Given the description of an element on the screen output the (x, y) to click on. 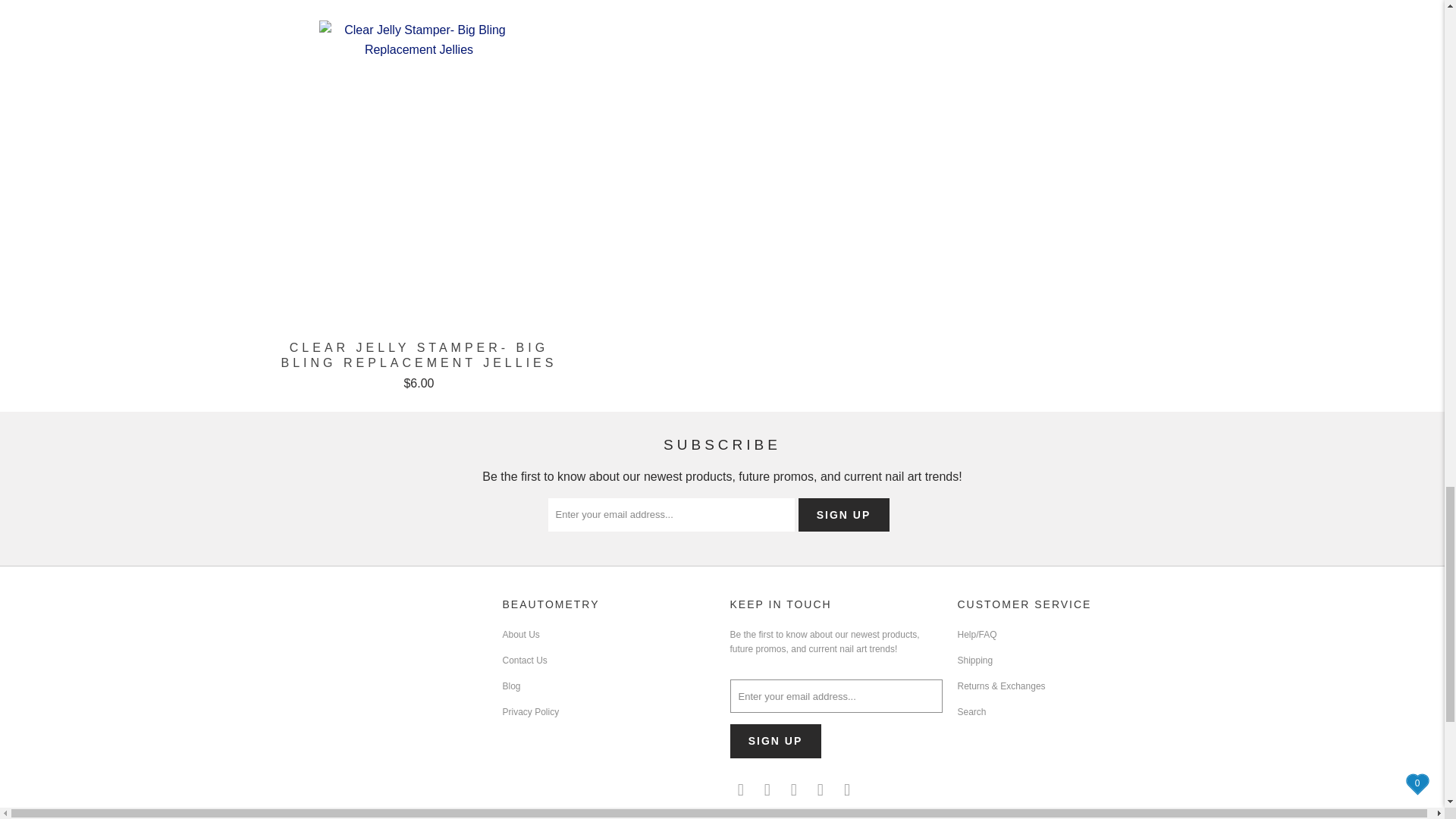
Beautometry on Facebook (767, 790)
Sign Up (775, 740)
Beautometry on YouTube (794, 790)
Sign Up (842, 514)
Beautometry on Twitter (740, 790)
